Given the description of an element on the screen output the (x, y) to click on. 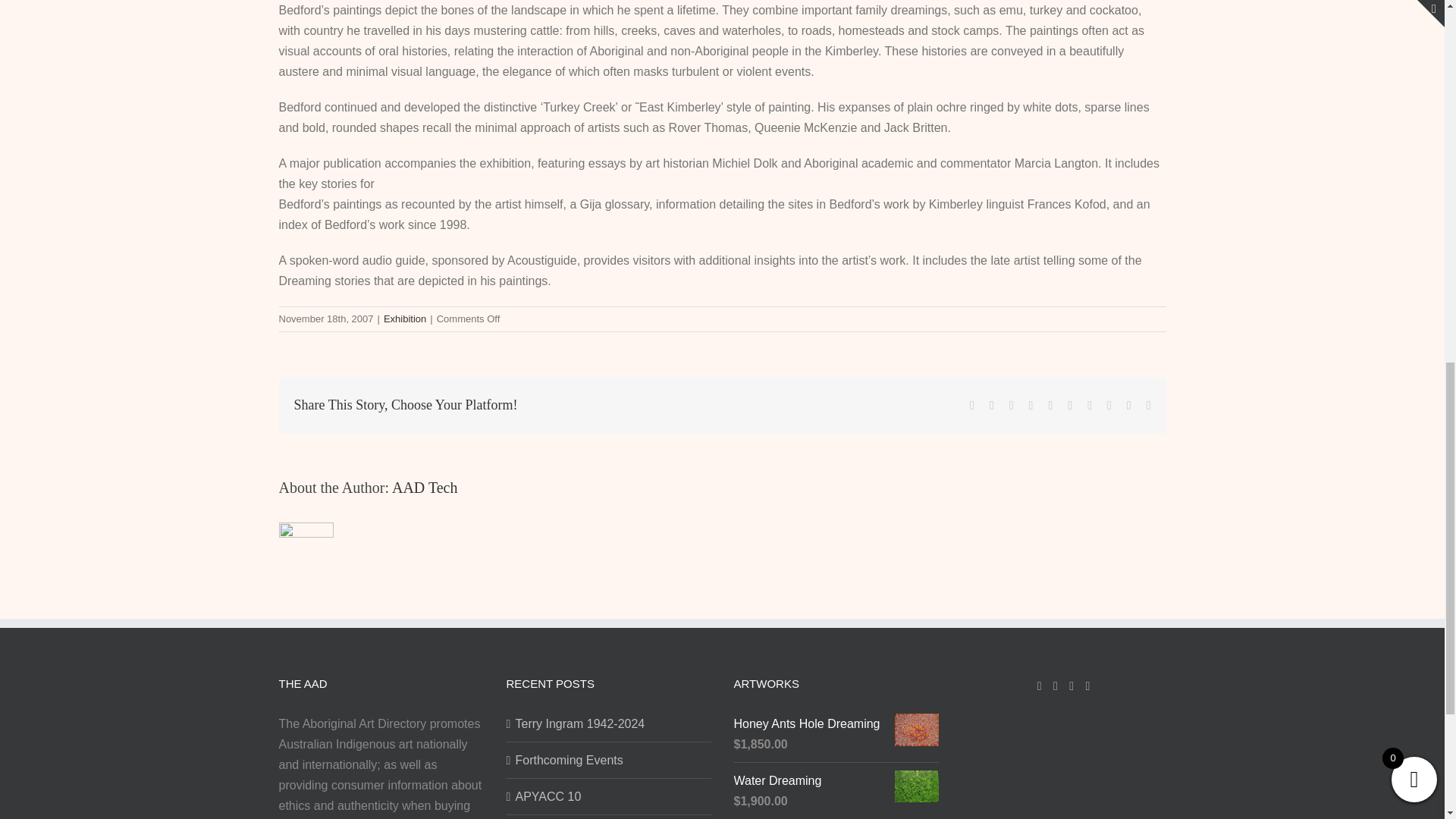
Exhibition (405, 318)
Posts by AAD Tech (424, 487)
